Given the description of an element on the screen output the (x, y) to click on. 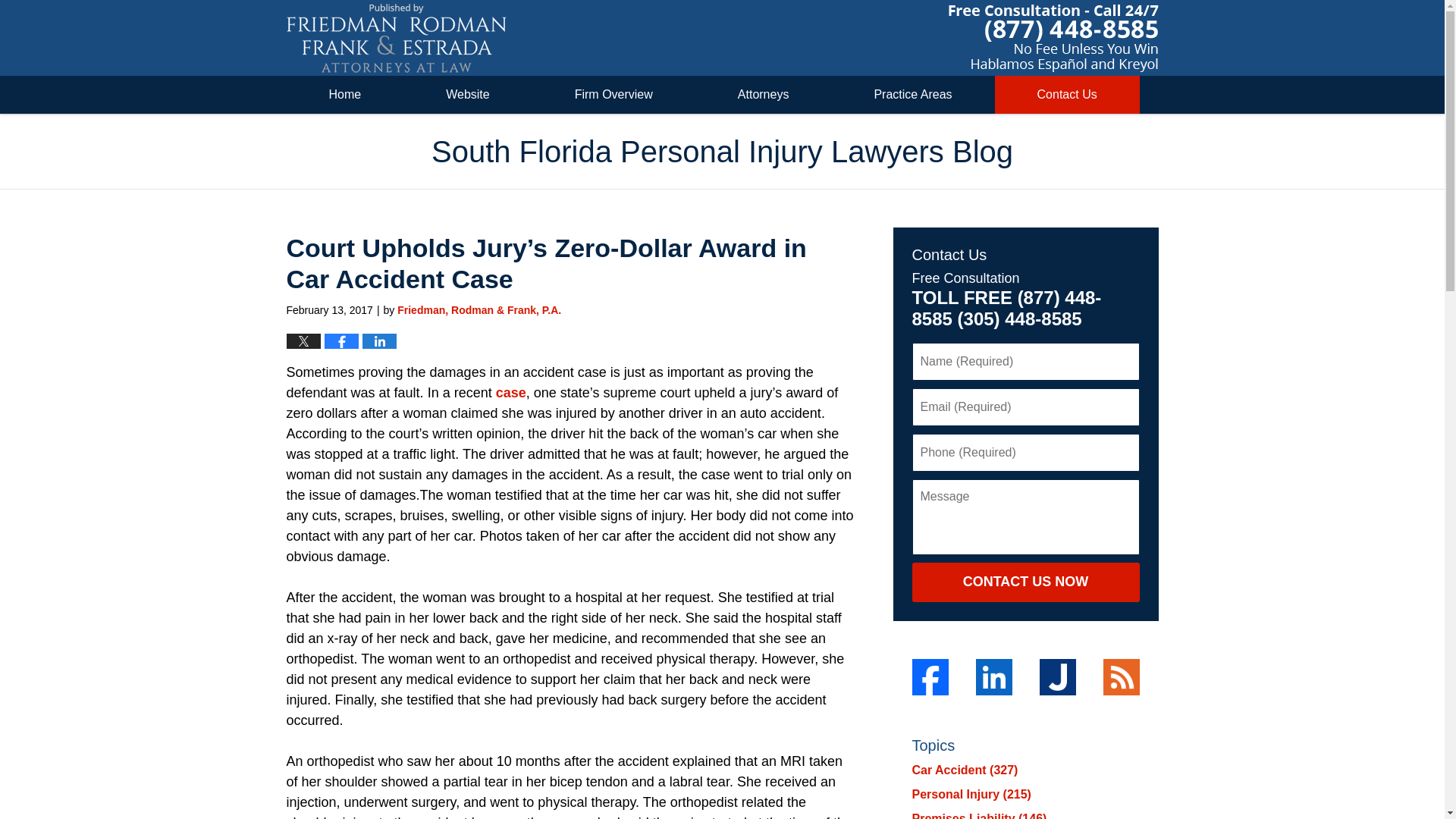
Contact Us (1067, 94)
Feed (1120, 677)
CONTACT US NOW (1024, 581)
Website (467, 94)
Justia (1057, 677)
Home (345, 94)
South Florida Personal Injury Lawyers Blog (396, 37)
case (510, 392)
Facebook (929, 677)
Attorneys (763, 94)
Firm Overview (613, 94)
LinkedIn (993, 677)
Practice Areas (912, 94)
Please enter a valid phone number. (1024, 452)
